Given the description of an element on the screen output the (x, y) to click on. 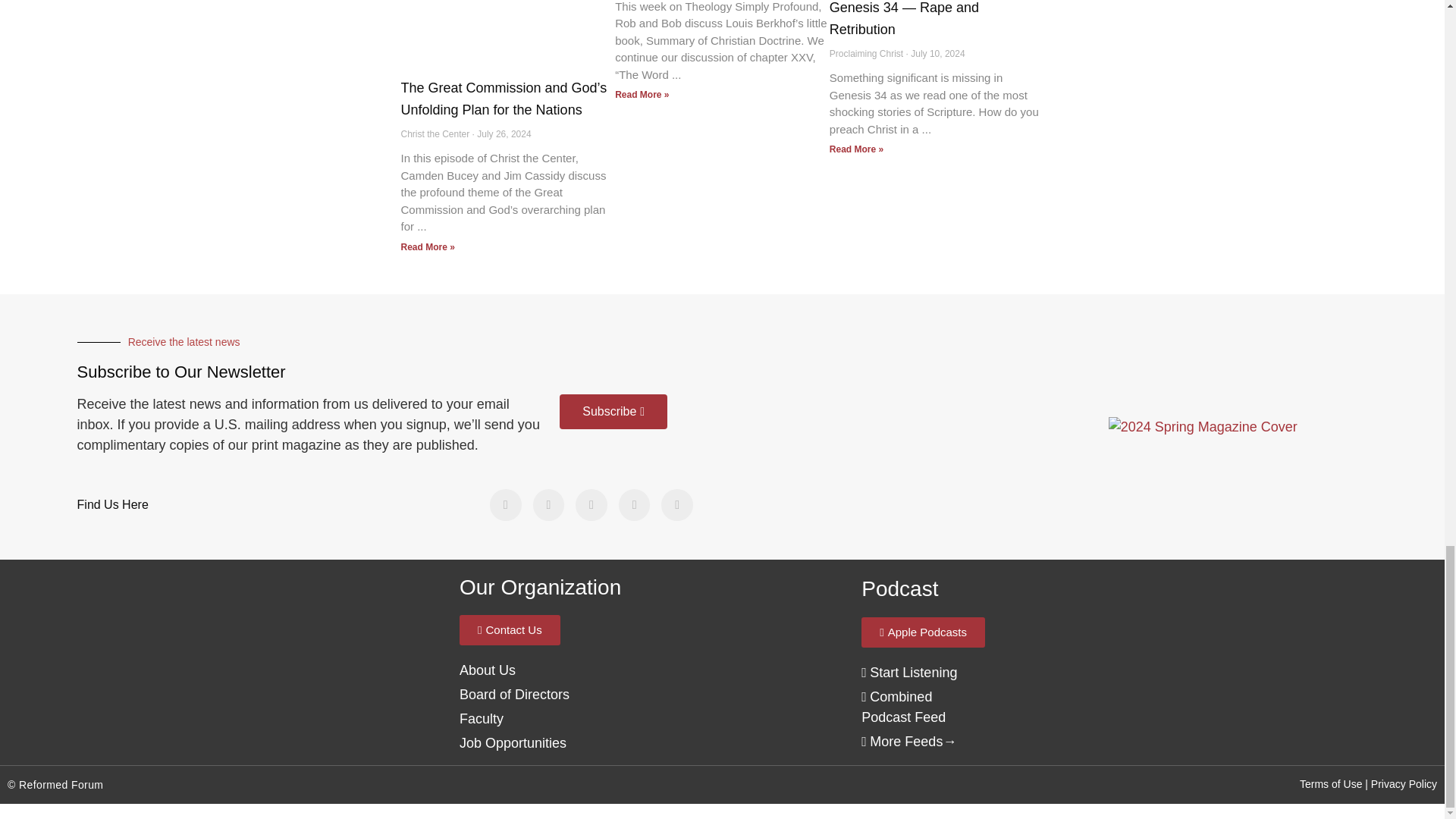
Podcast Feed (908, 672)
2024 Spring Magazine Cover (1202, 426)
Podcast Feed (902, 706)
Faculty (481, 718)
About Us (514, 694)
More Feeds (901, 741)
About Us (487, 670)
